Given the description of an element on the screen output the (x, y) to click on. 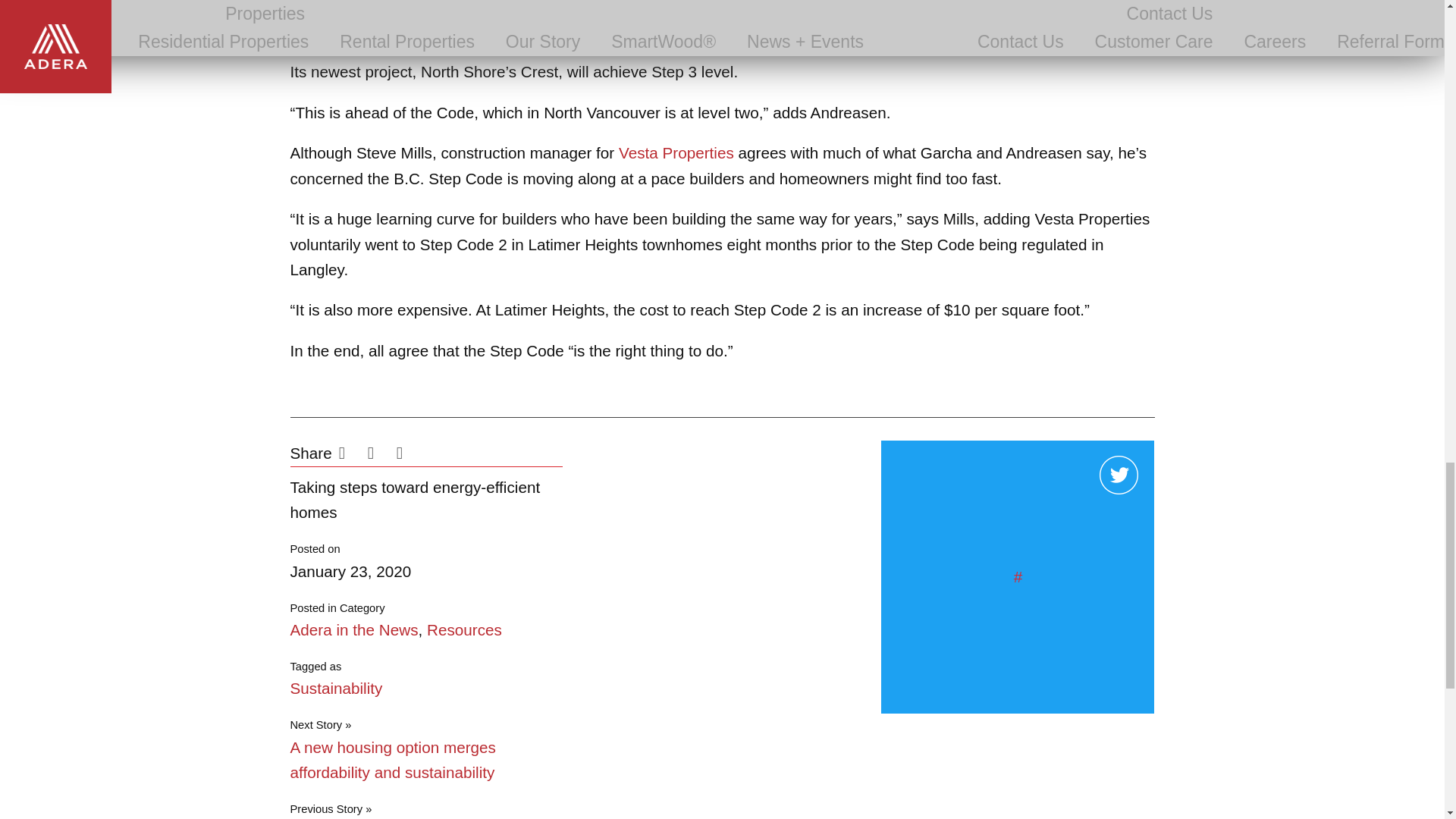
View all posts in Resources (464, 629)
Facebook (350, 454)
View all posts in Adera in the News (353, 629)
View all posts in Sustainability (335, 687)
LinkedIn (407, 454)
Twitter (379, 454)
